Given the description of an element on the screen output the (x, y) to click on. 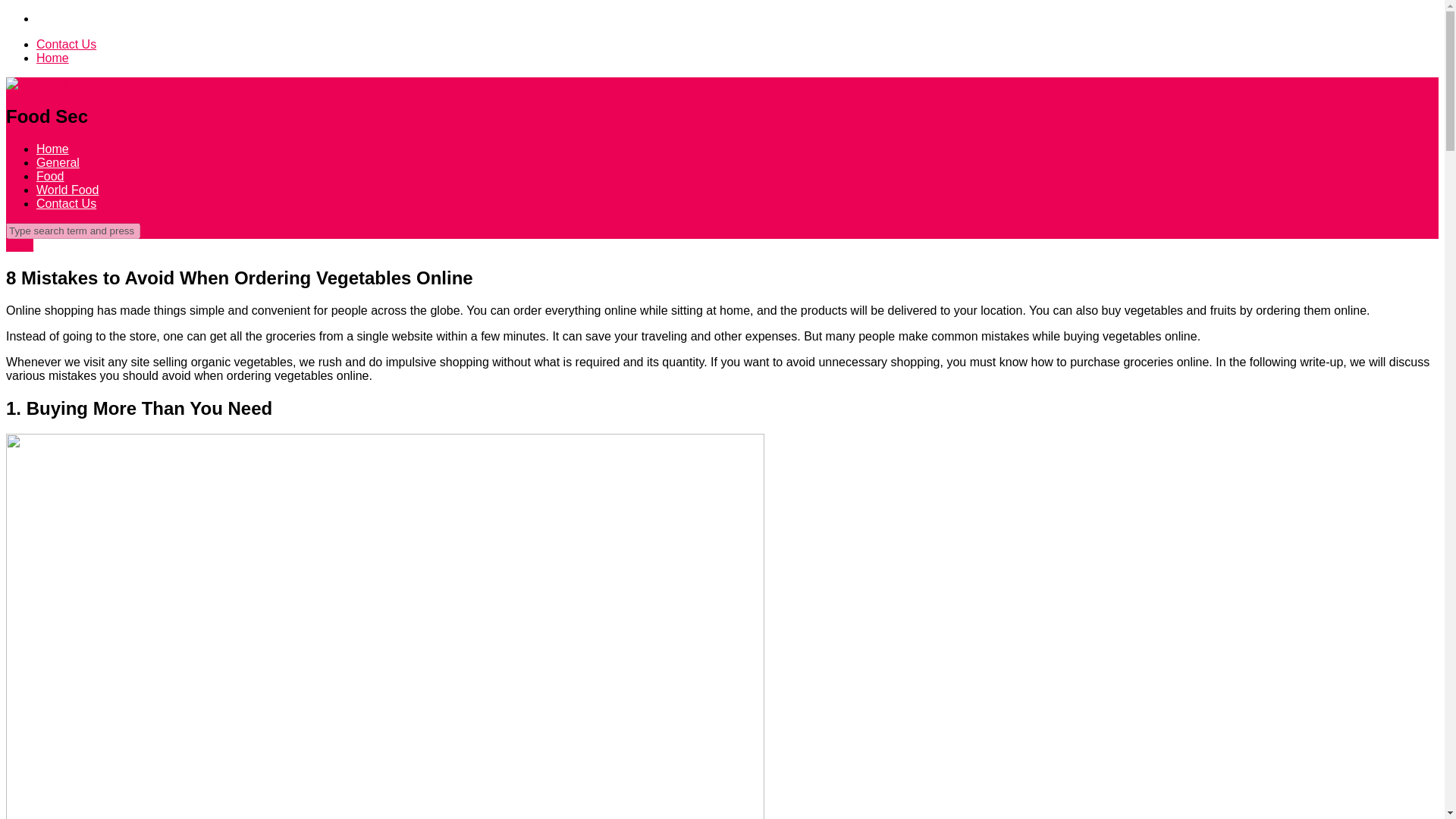
General (58, 162)
Home (52, 148)
Contact Us (66, 43)
Food (19, 245)
Contact Us (66, 203)
Food (50, 175)
Home (52, 57)
World Food (67, 189)
Type search term and press enter (72, 230)
